Given the description of an element on the screen output the (x, y) to click on. 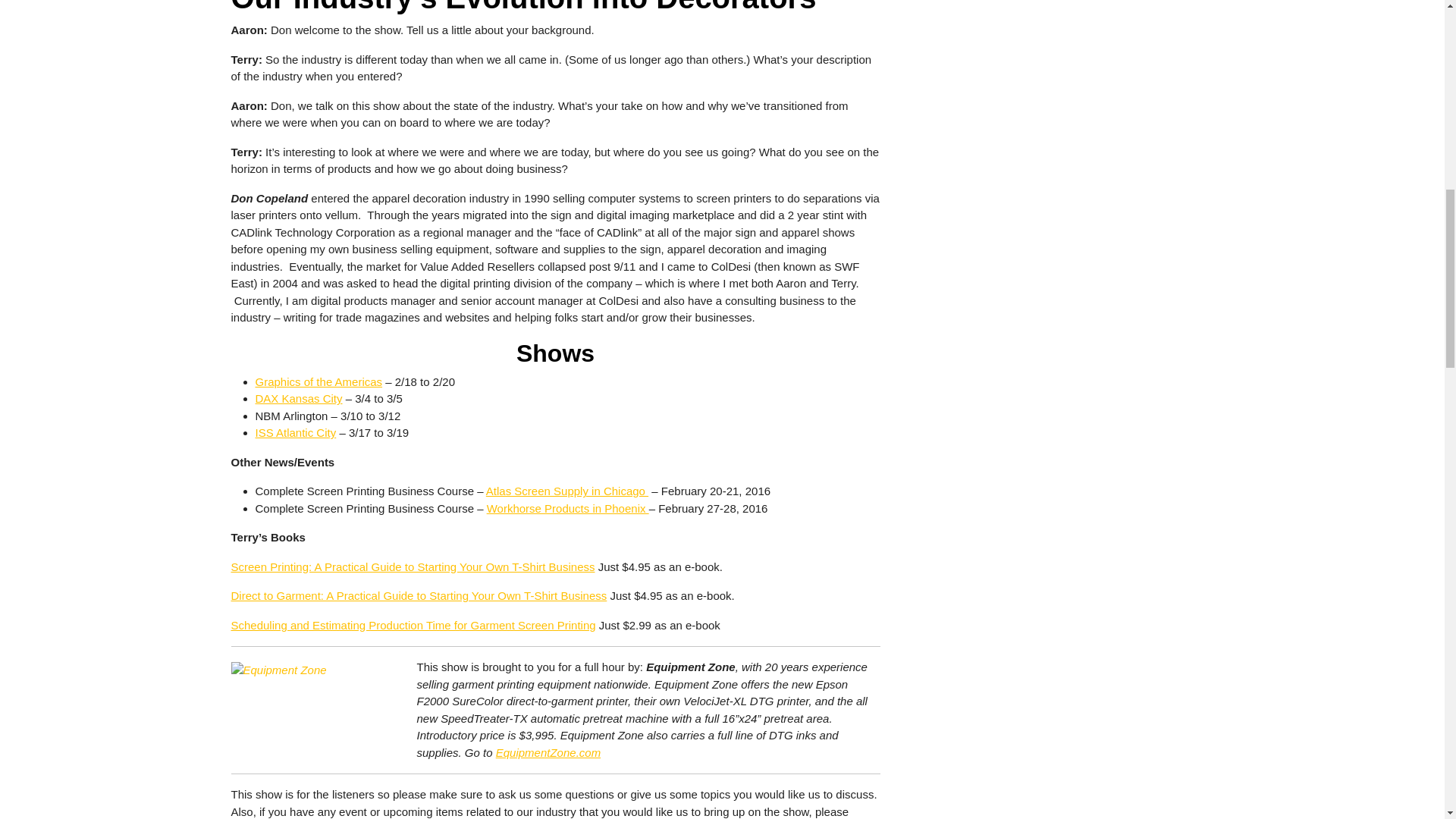
Atlas Screen Supply in Chicago  (566, 490)
DAX Kansas City (298, 398)
Graphics of the Americas (317, 381)
ISS Atlantic City (295, 431)
Workhorse Products in Phoenix (567, 508)
